Given the description of an element on the screen output the (x, y) to click on. 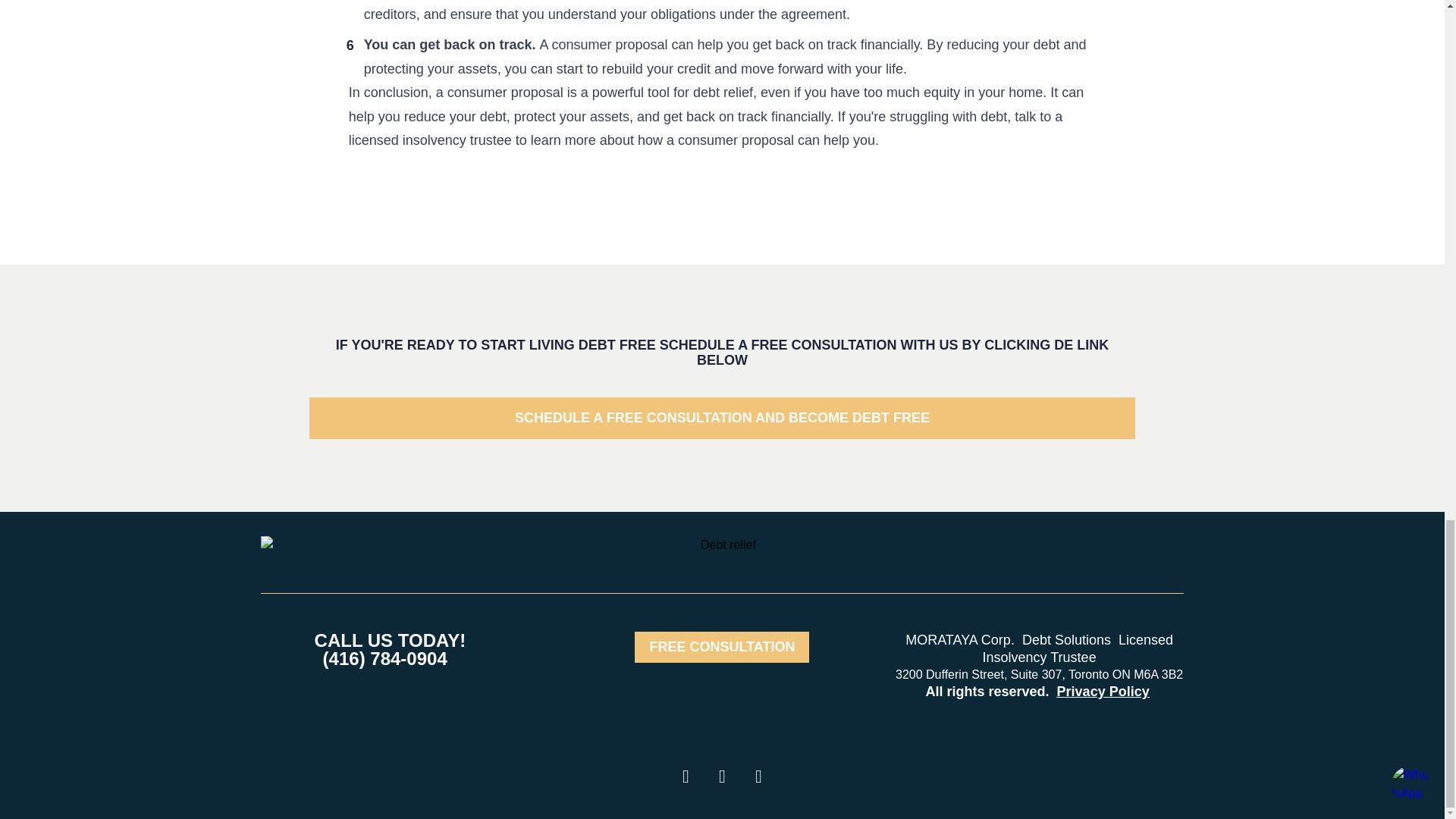
Share on Instagram (757, 776)
Privacy Policy (1103, 691)
Share on Facebook (684, 776)
SCHEDULE A FREE CONSULTATION AND BECOME DEBT FREE (721, 417)
FREE CONSULTATION (721, 646)
Share on LinkedIn (721, 776)
